Given the description of an element on the screen output the (x, y) to click on. 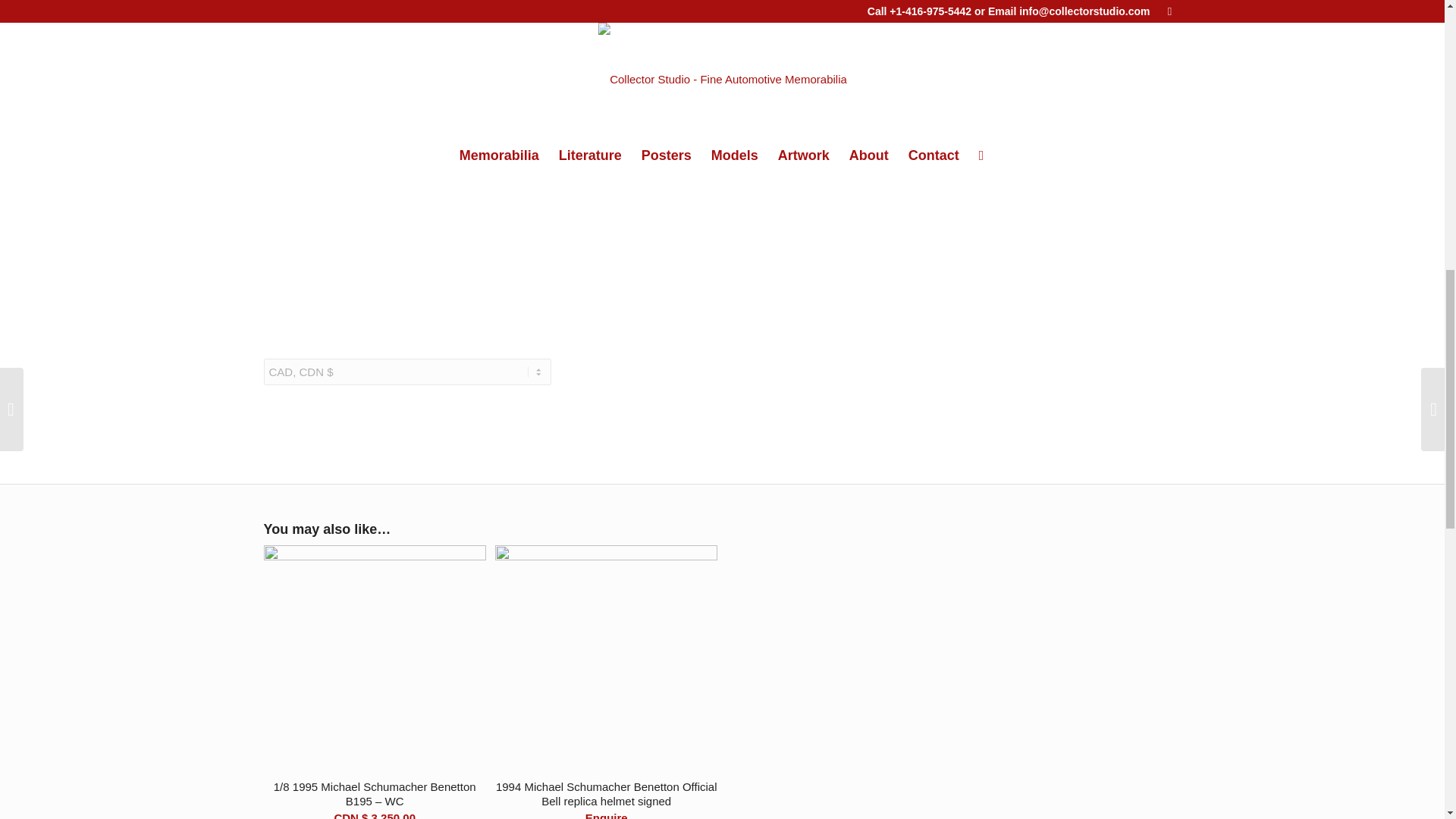
95schu (414, 72)
CS-MS-Official-Replica-Helmet-CollectionS (414, 225)
